Given the description of an element on the screen output the (x, y) to click on. 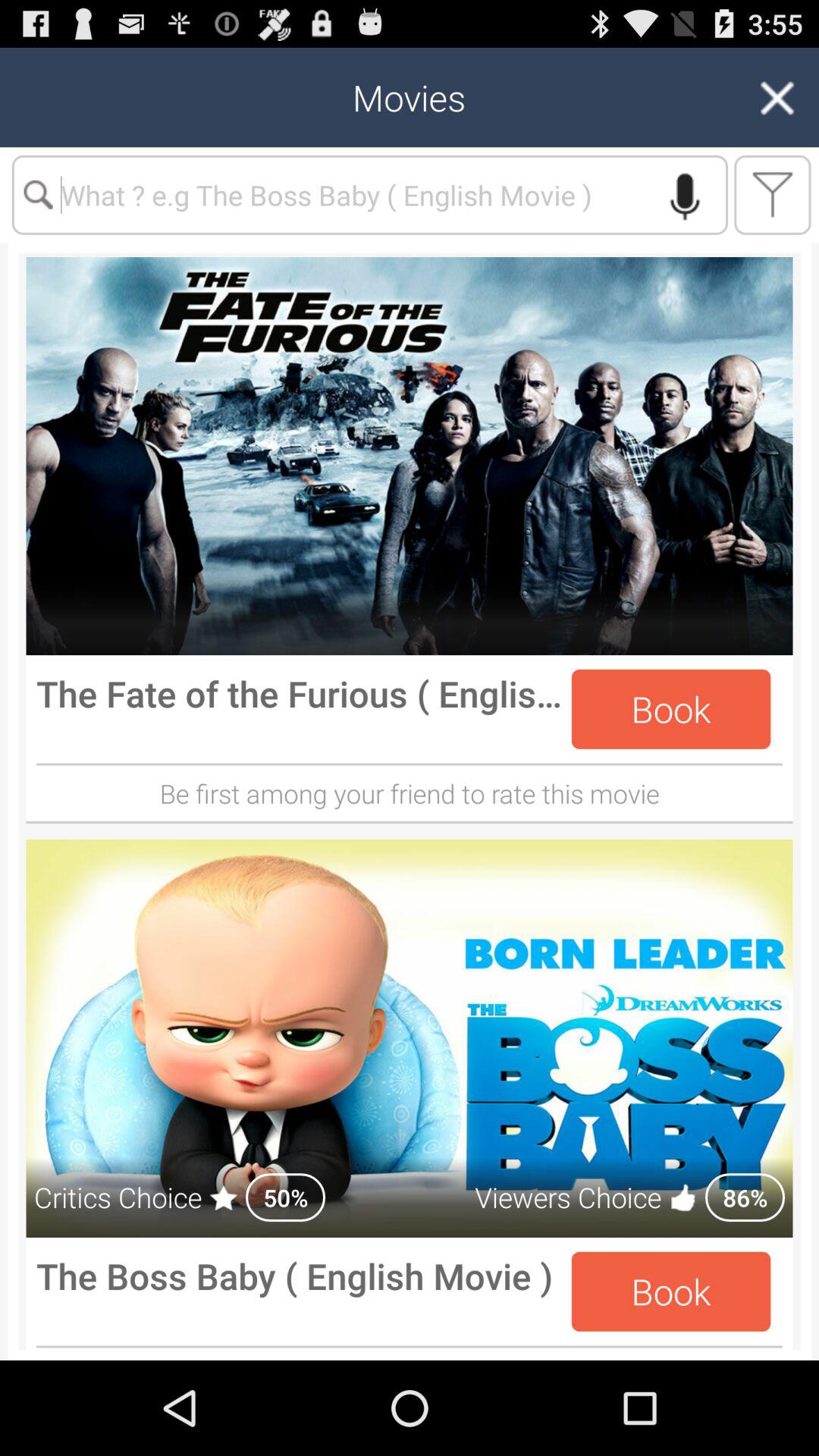
click on the close icon on the top right of the web page (776, 97)
click on the like emoji beside the viewers choice (683, 1197)
click the search bar below movies (370, 194)
click on the image (409, 456)
